Given the description of an element on the screen output the (x, y) to click on. 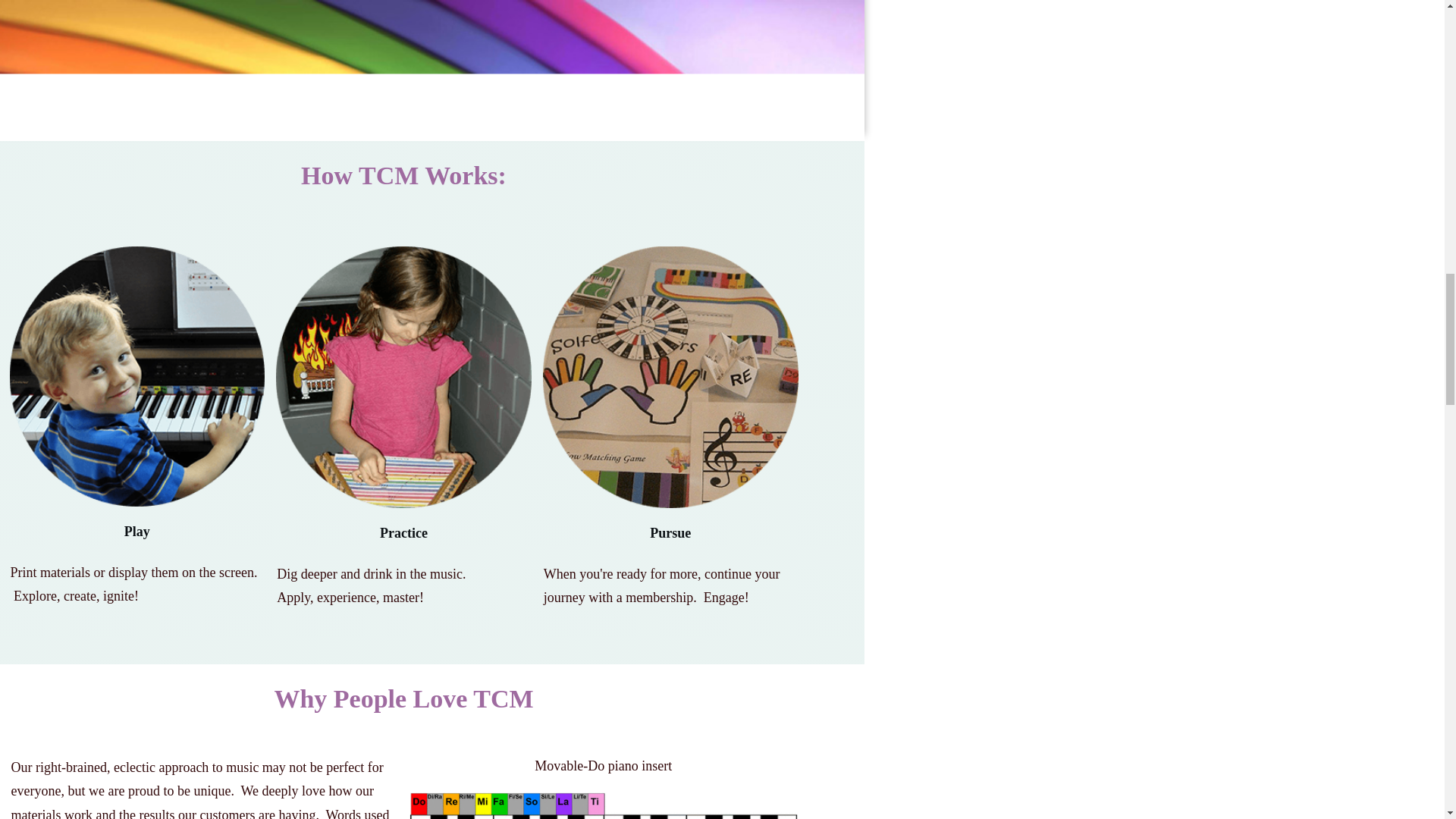
piano insert (603, 805)
howitworks2 (403, 376)
howitworks1 (136, 376)
howitworks3 (670, 376)
